Given the description of an element on the screen output the (x, y) to click on. 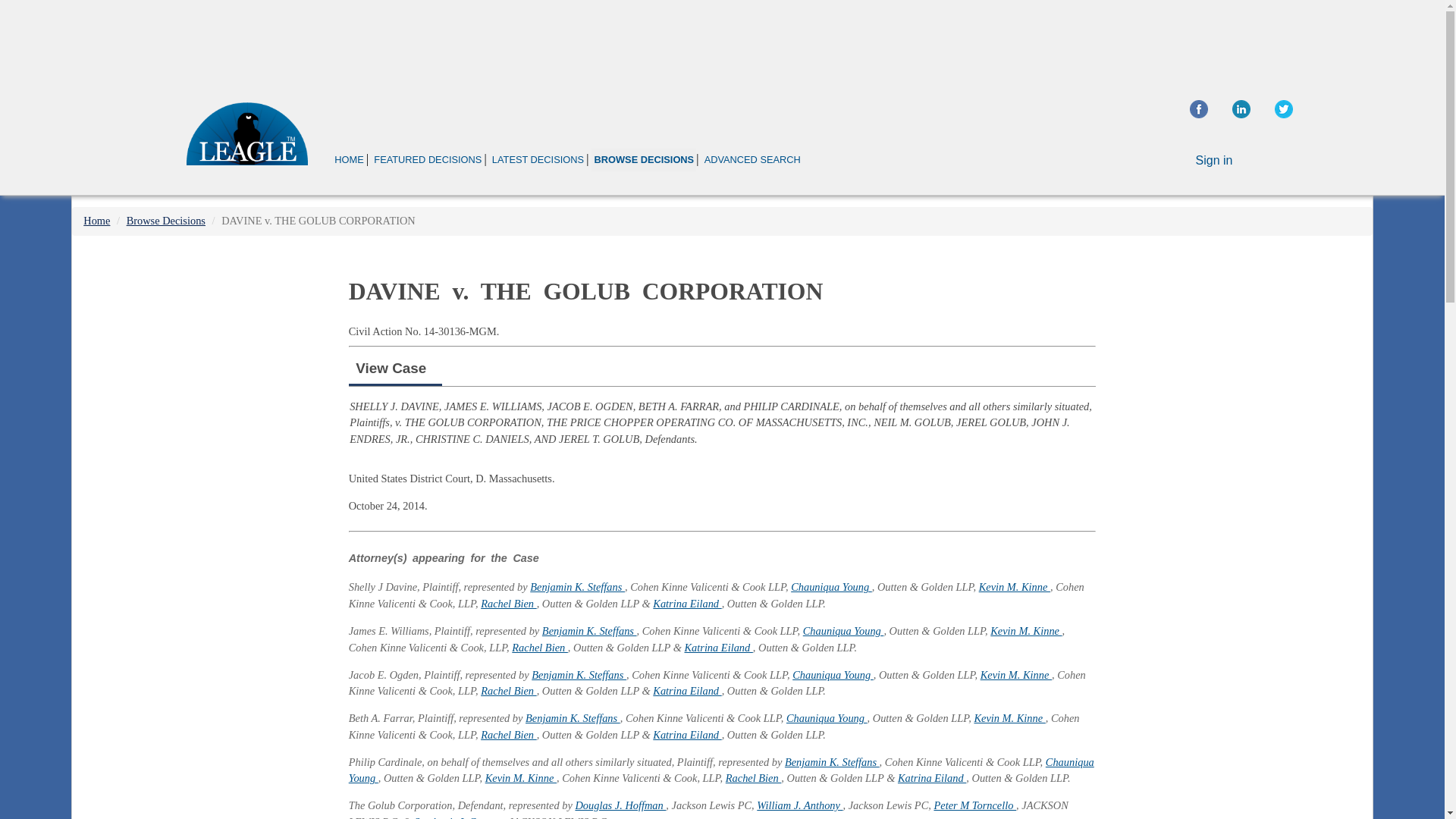
View Case (390, 367)
Katrina Eiland (932, 777)
Benjamin K. Steffans (578, 674)
Benjamin K. Steffans (576, 586)
Home (96, 220)
FEATURED DECISIONS (427, 159)
Chauniqua Young (832, 674)
LATEST DECISIONS (537, 159)
Katrina Eiland (686, 690)
Katrina Eiland (686, 603)
Chauniqua Young (721, 769)
ADVANCED SEARCH (752, 159)
Chauniqua Young (831, 586)
Rachel Bien (508, 734)
Chauniqua Young (843, 630)
